Given the description of an element on the screen output the (x, y) to click on. 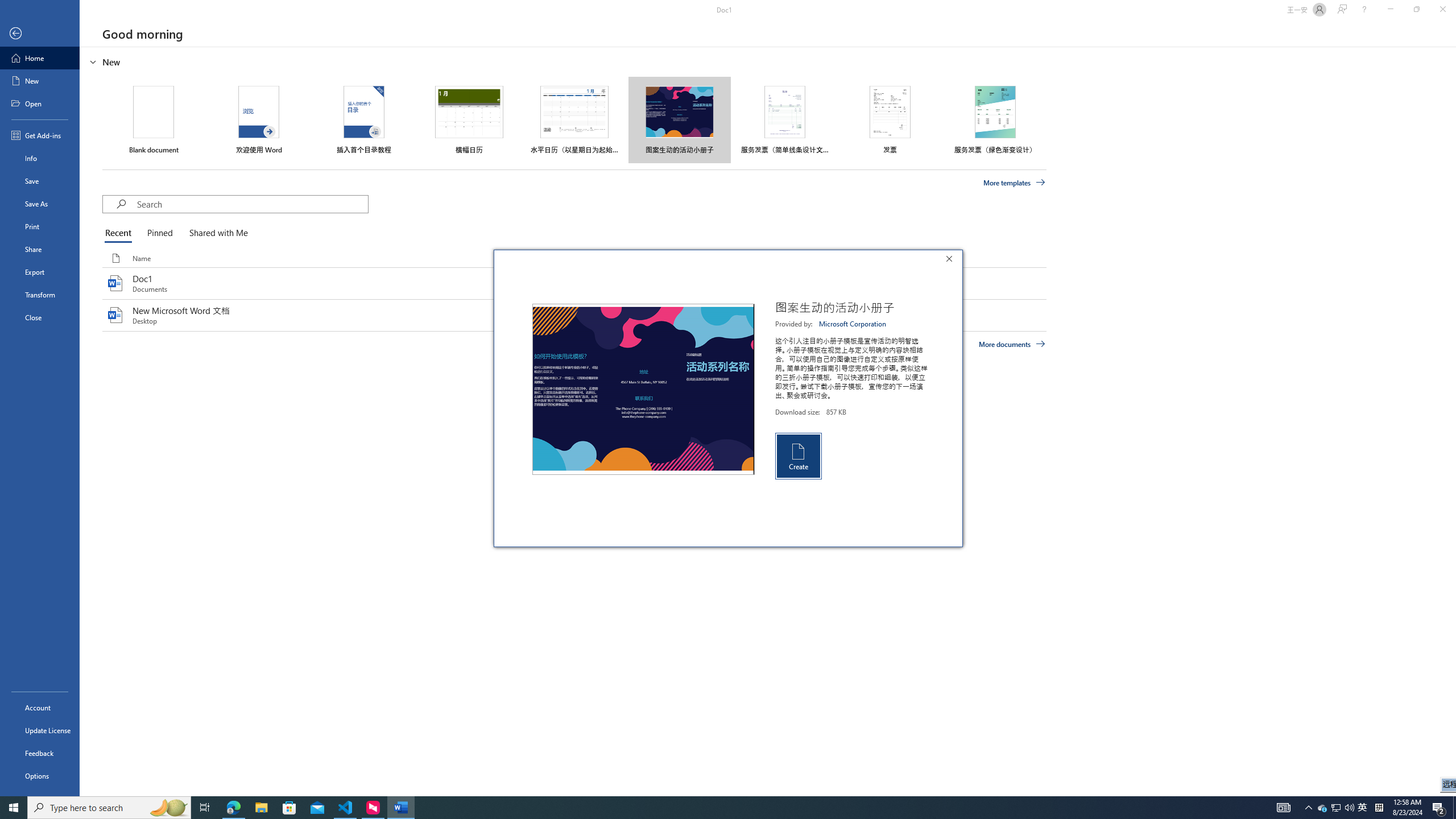
Visual Studio Code - 1 running window (345, 807)
Pinned (159, 233)
AutomationID: 4105 (1283, 807)
Show desktop (1454, 807)
Print (1362, 807)
Start (40, 225)
Blank document (1322, 807)
Q2790: 100% (13, 807)
